Given the description of an element on the screen output the (x, y) to click on. 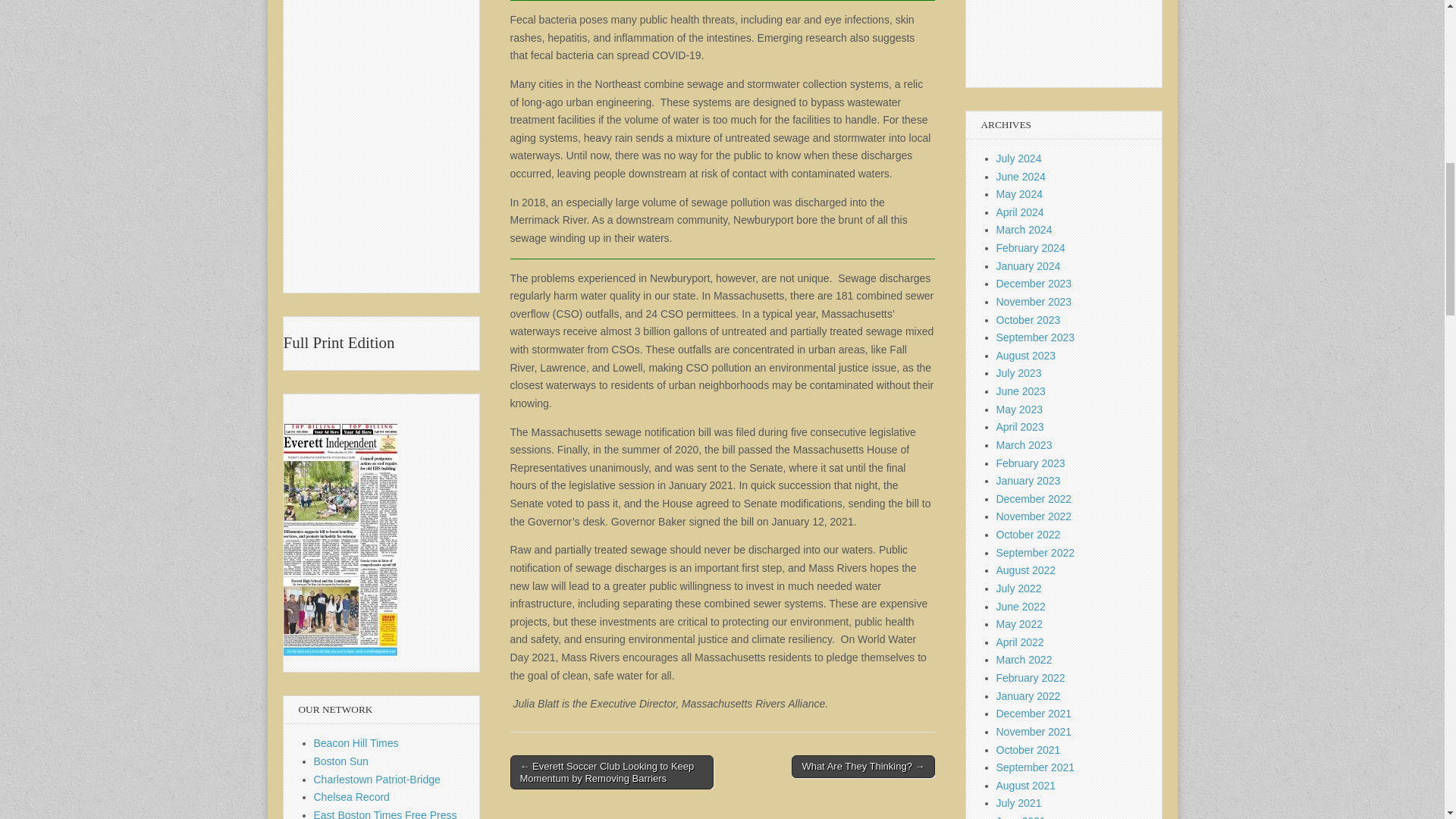
Chelsea Record (352, 797)
Beacon Hill Times (356, 743)
Boston Sun (341, 761)
East Boston Times Free Press (385, 814)
Charlestown Patriot-Bridge (377, 779)
